Given the description of an element on the screen output the (x, y) to click on. 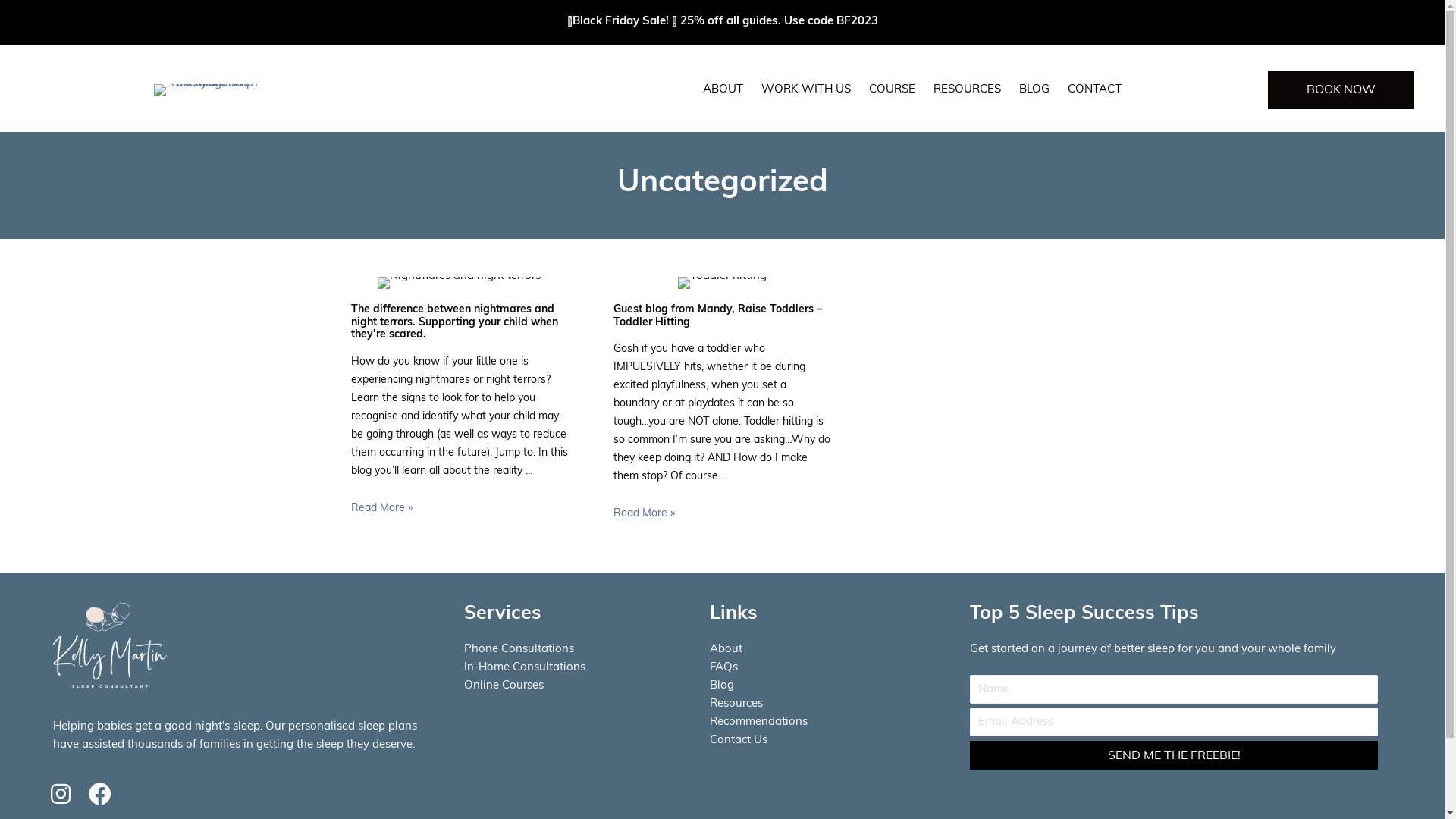
Toddler hitting Element type: hover (721, 282)
Contact Us Element type: text (738, 740)
Online Courses Element type: text (503, 685)
COURSE Element type: text (891, 89)
kelly-martin-adelaide-sleep-consultant-main-logo Element type: hover (210, 90)
CONTACT Element type: text (1094, 89)
Recommendations Element type: text (758, 722)
kelly-martin-sleep-consultant-white-logo Element type: hover (109, 644)
ABOUT Element type: text (722, 89)
Phone Consultations Element type: text (519, 649)
Blog Element type: text (721, 685)
Nightmares and night terrors Element type: hover (458, 282)
About Element type: text (725, 649)
SEND ME THE FREEBIE! Element type: text (1173, 754)
In-Home Consultations Element type: text (524, 667)
FAQs Element type: text (723, 667)
BOOK NOW Element type: text (1340, 90)
RESOURCES Element type: text (967, 89)
Resources Element type: text (735, 703)
BLOG Element type: text (1034, 89)
WORK WITH US Element type: text (805, 89)
